Given the description of an element on the screen output the (x, y) to click on. 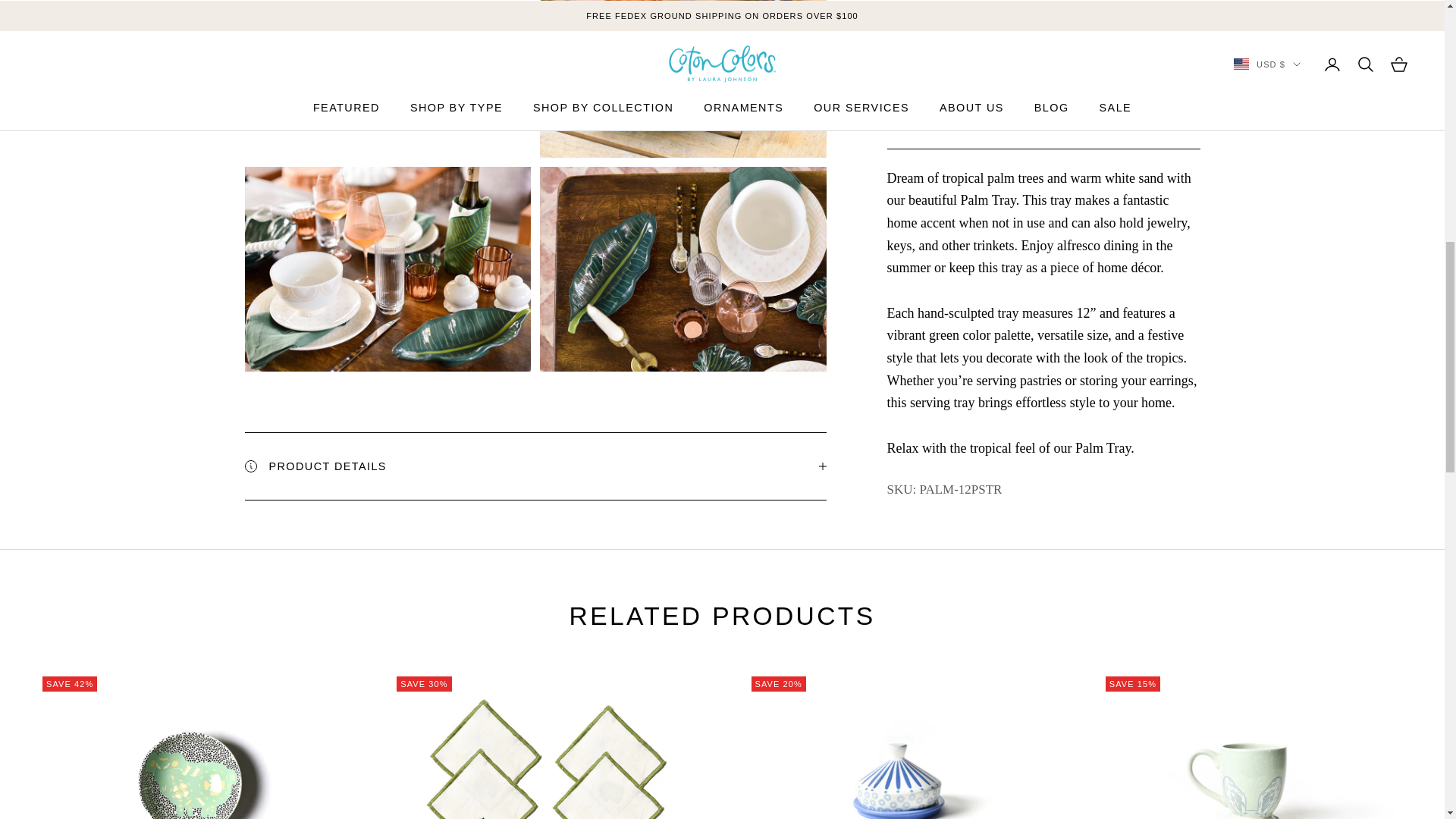
PRODUCT DETAILS (534, 466)
